Given the description of an element on the screen output the (x, y) to click on. 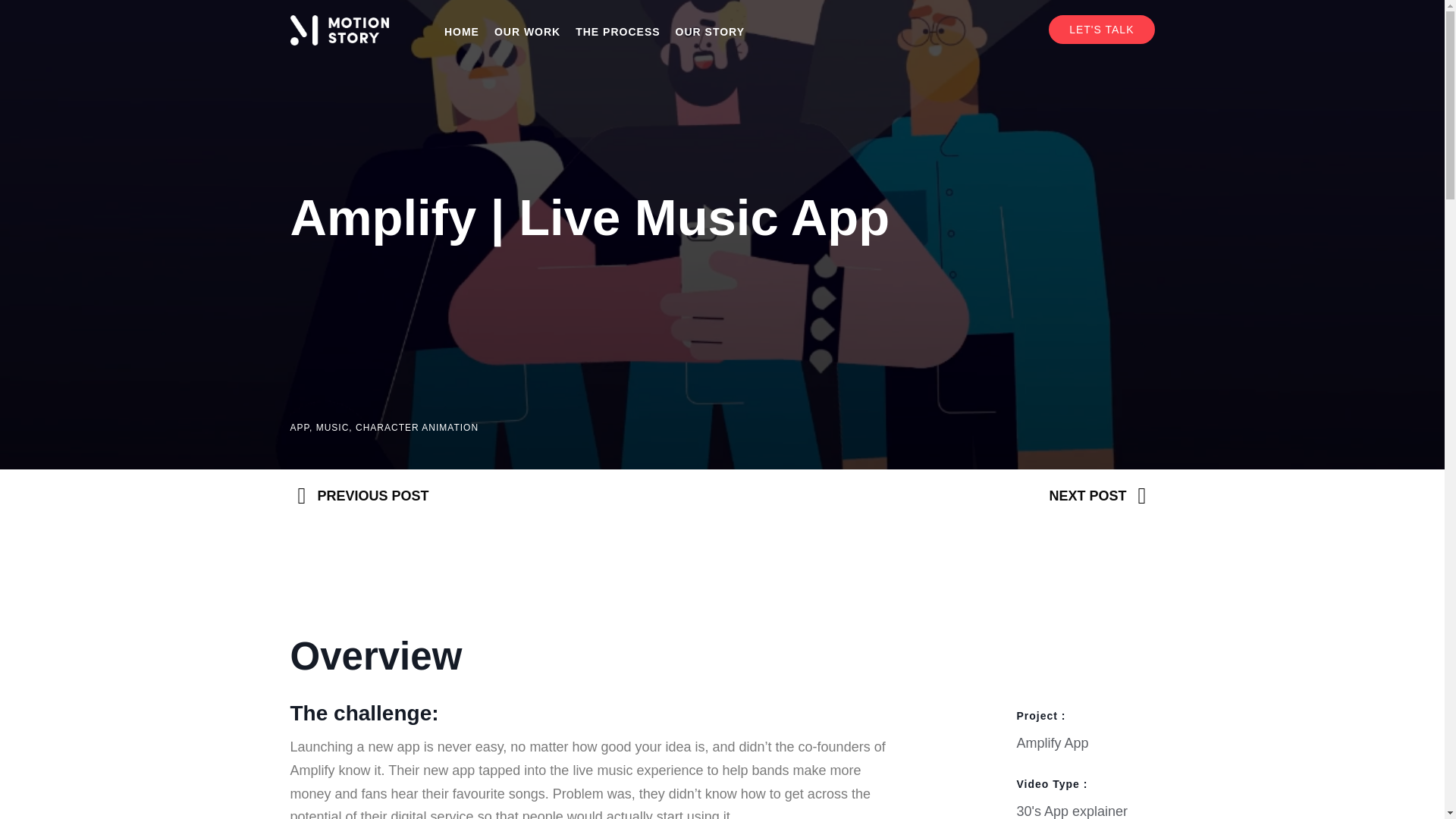
CHARACTER ANIMATION (417, 427)
PREVIOUS POST (509, 495)
OUR STORY (710, 31)
OUR WORK (526, 31)
LET'S TALK (1101, 29)
MUSIC (332, 427)
NEXT POST (934, 495)
THE PROCESS (616, 31)
HOME (461, 31)
APP (298, 427)
